Given the description of an element on the screen output the (x, y) to click on. 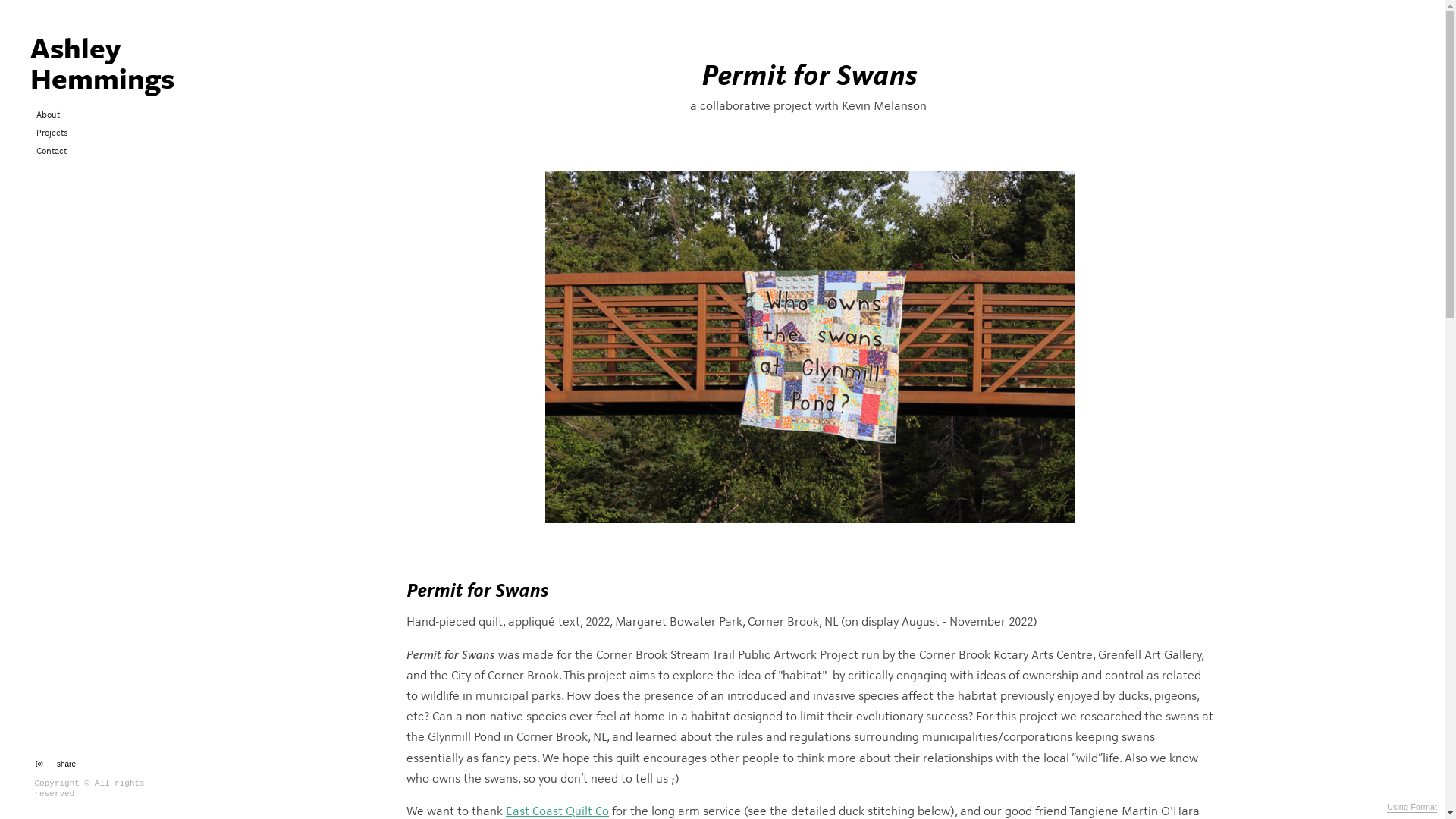
Using Format Element type: text (1411, 807)
Projects Element type: text (51, 131)
Ashley Hemmings Element type: text (95, 58)
share Element type: text (63, 763)
About Element type: text (47, 113)
Contact Element type: text (51, 149)
